Given the description of an element on the screen output the (x, y) to click on. 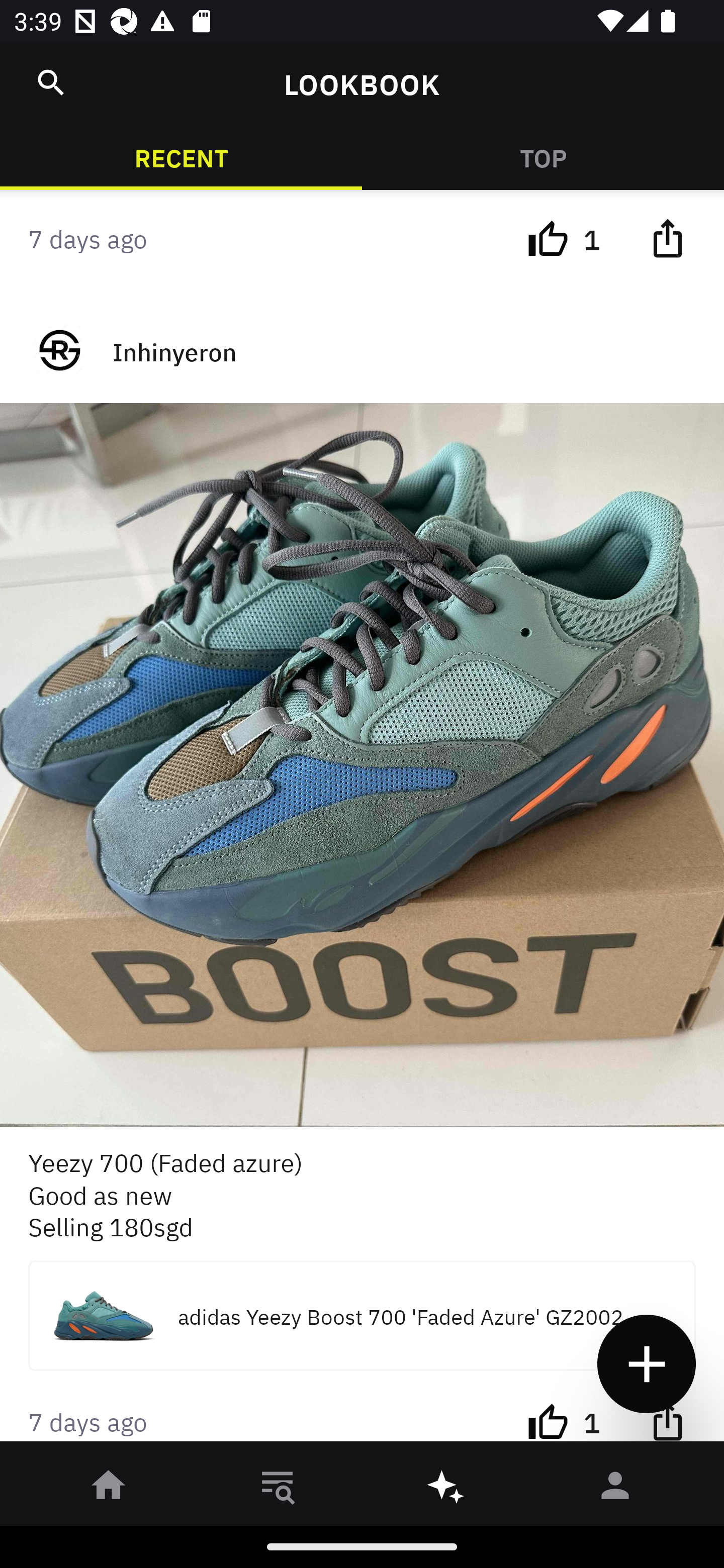
 (51, 82)
RECENT (181, 156)
TOP (543, 156)
󰔔 (547, 238)
 (667, 238)
Yeezy 700 (Faded azure)
Good as new
Selling 180sgd (362, 1193)
adidas Yeezy Boost 700 'Faded Azure' GZ2002 (362, 1315)
󰔔 (547, 1420)
 (667, 1420)
󰋜 (108, 1488)
󱎸 (277, 1488)
󰫢 (446, 1488)
󰀄 (615, 1488)
